Given the description of an element on the screen output the (x, y) to click on. 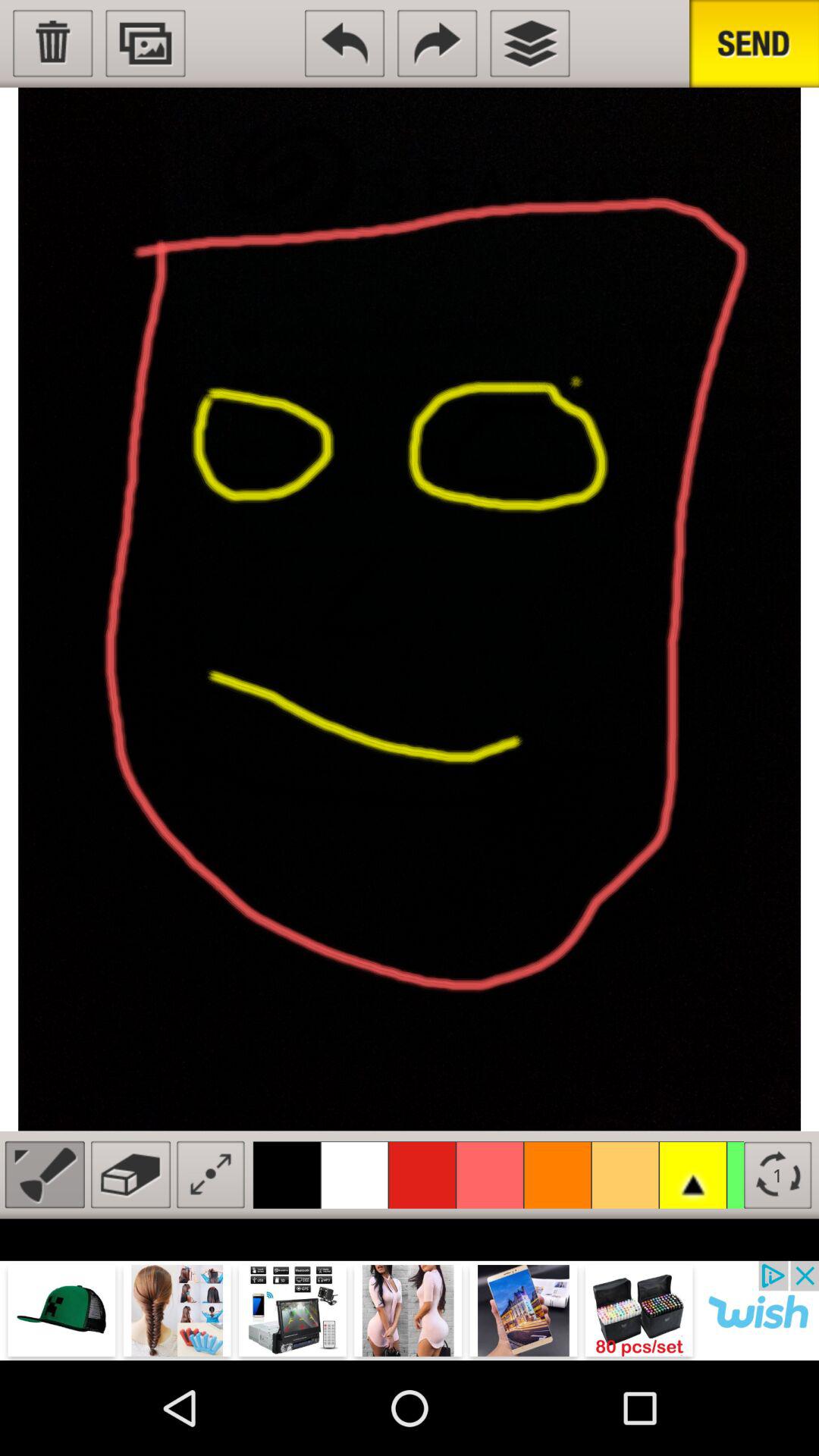
visit advertiser website (409, 1310)
